Given the description of an element on the screen output the (x, y) to click on. 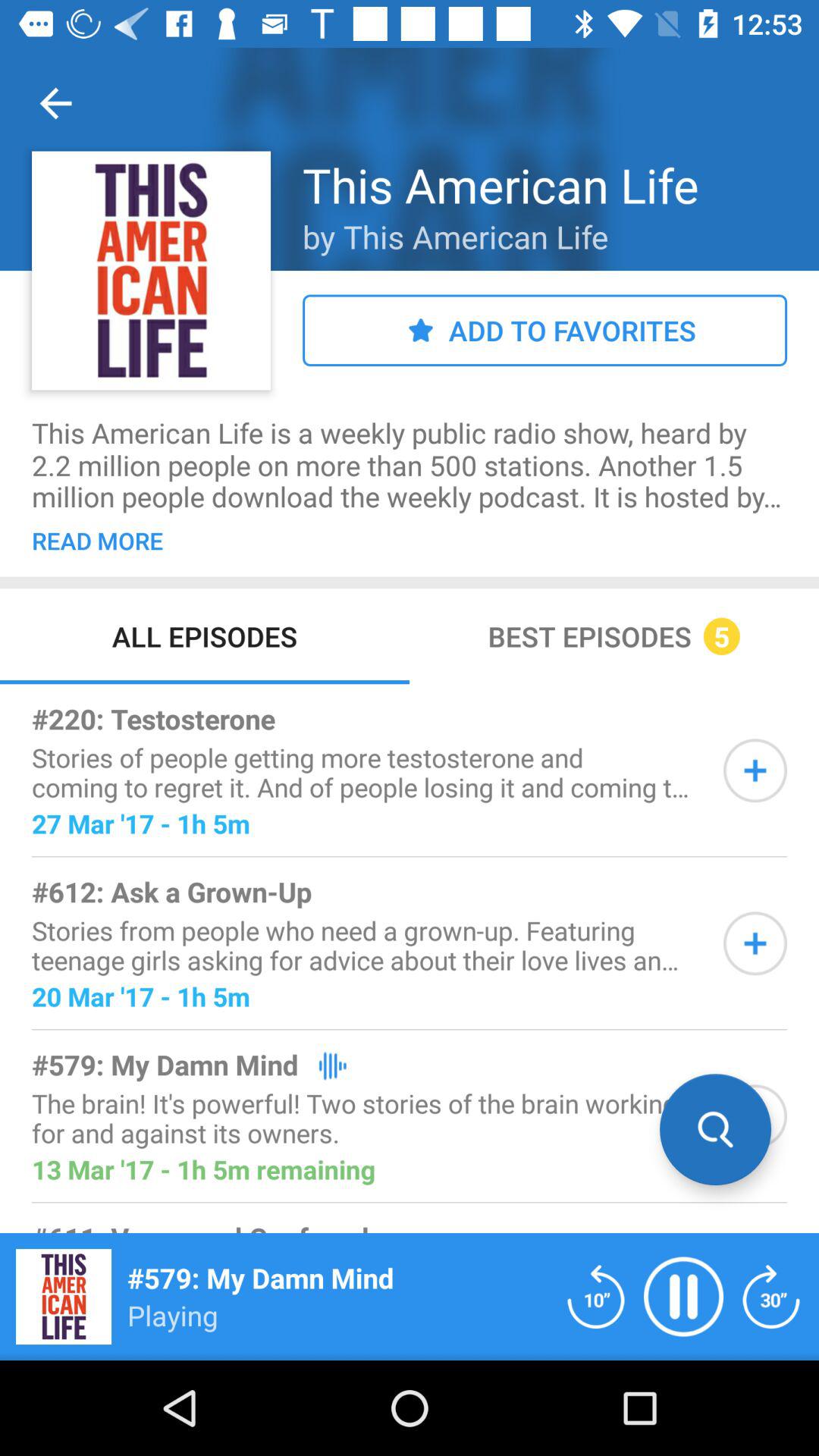
advance 30 seconds into podcast (771, 1296)
